Given the description of an element on the screen output the (x, y) to click on. 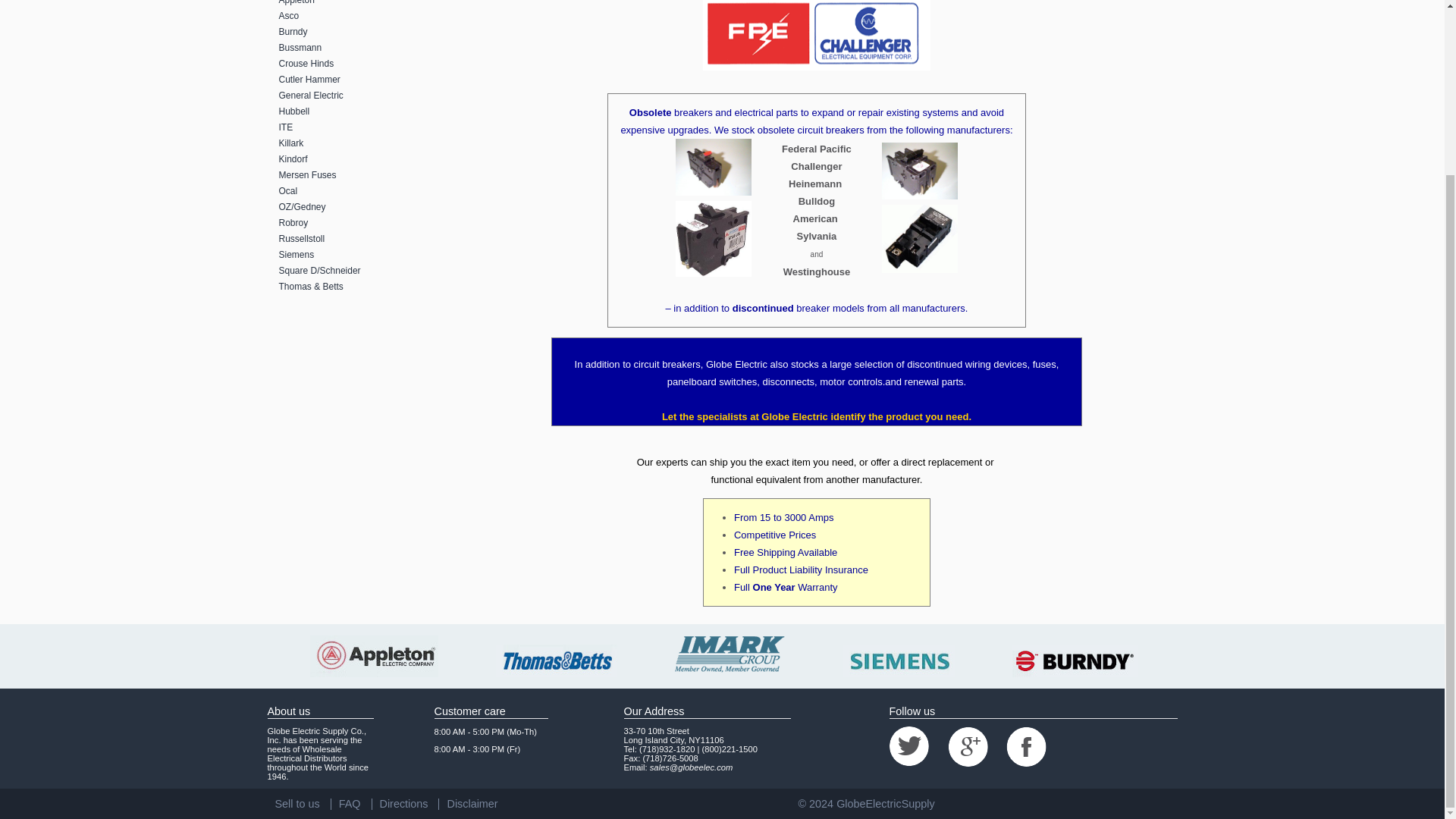
Bussmann (353, 48)
Russellstoll (353, 238)
Asco (353, 16)
Burndy (353, 32)
ITE (353, 127)
Kindorf (353, 159)
GlobeElectricSupply (884, 803)
Robroy (353, 222)
Cutler Hammer (353, 79)
General Electric (353, 95)
